Given the description of an element on the screen output the (x, y) to click on. 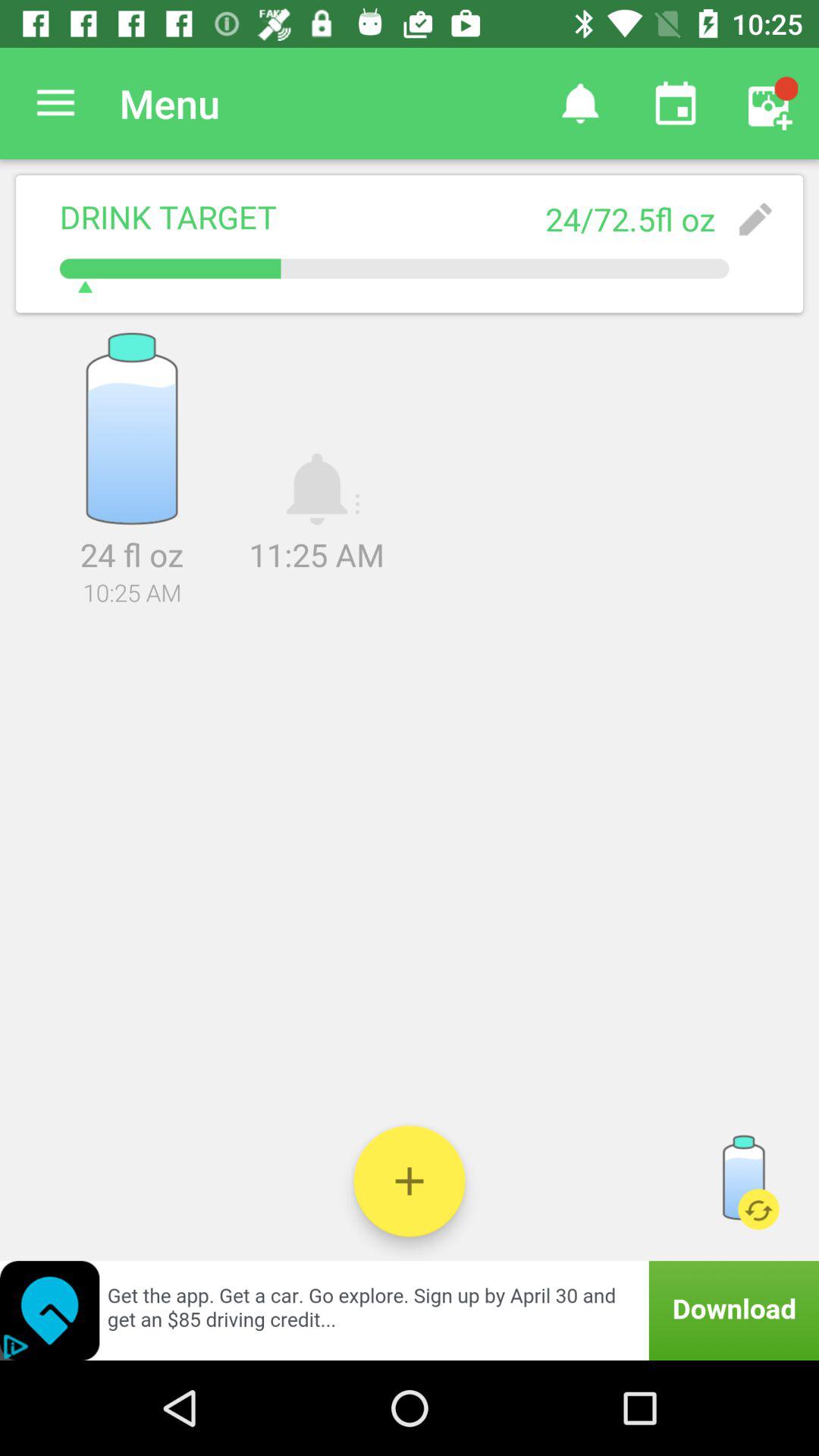
tap item above 24 72 5fl (675, 103)
